Given the description of an element on the screen output the (x, y) to click on. 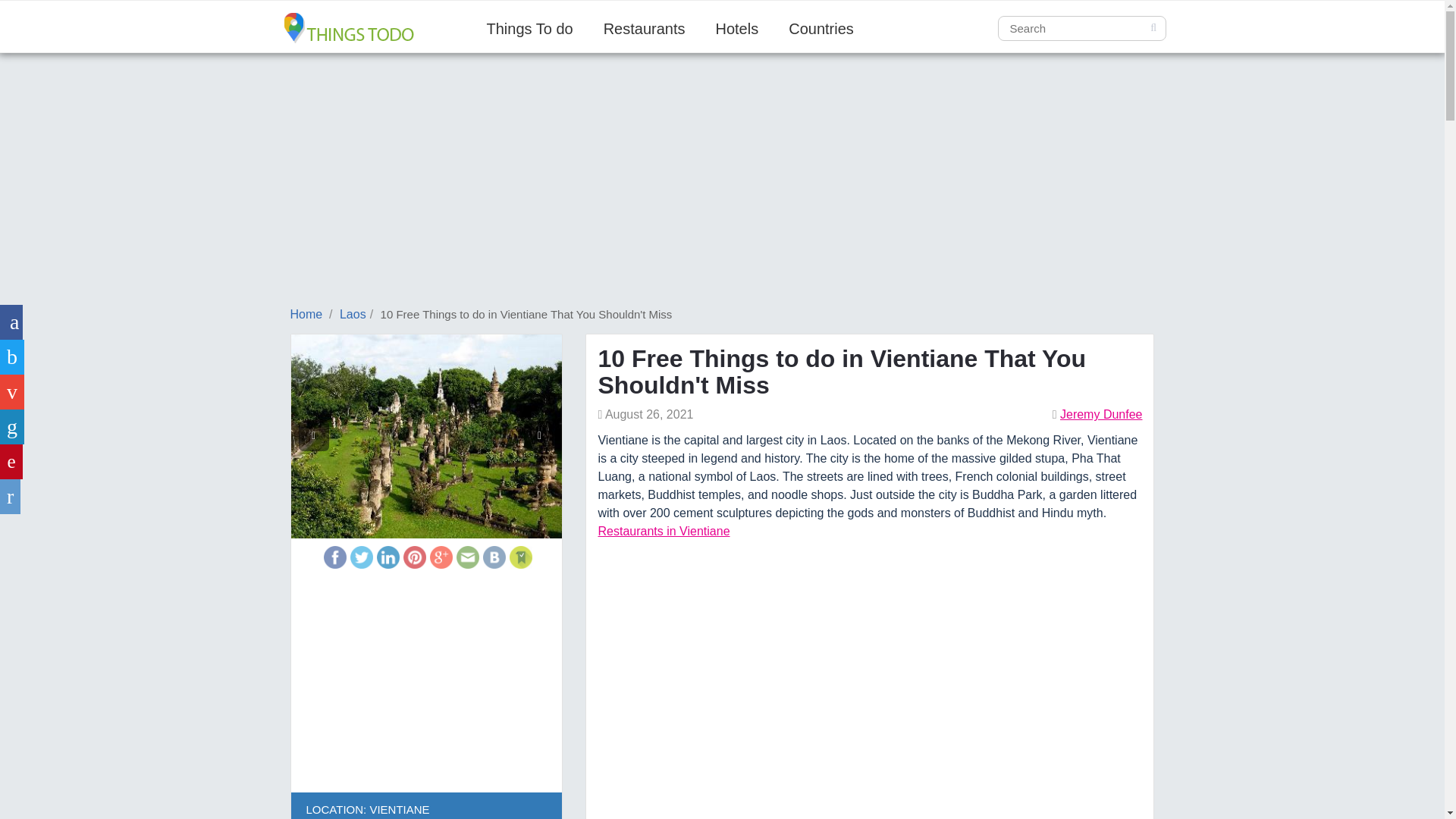
Laos (352, 314)
Countries (821, 29)
Bookmark (520, 557)
Hotels (737, 29)
Restaurants (644, 29)
Search for: (1081, 27)
Pinterest (414, 557)
Email (468, 557)
Next (539, 435)
Facebook (334, 557)
